Given the description of an element on the screen output the (x, y) to click on. 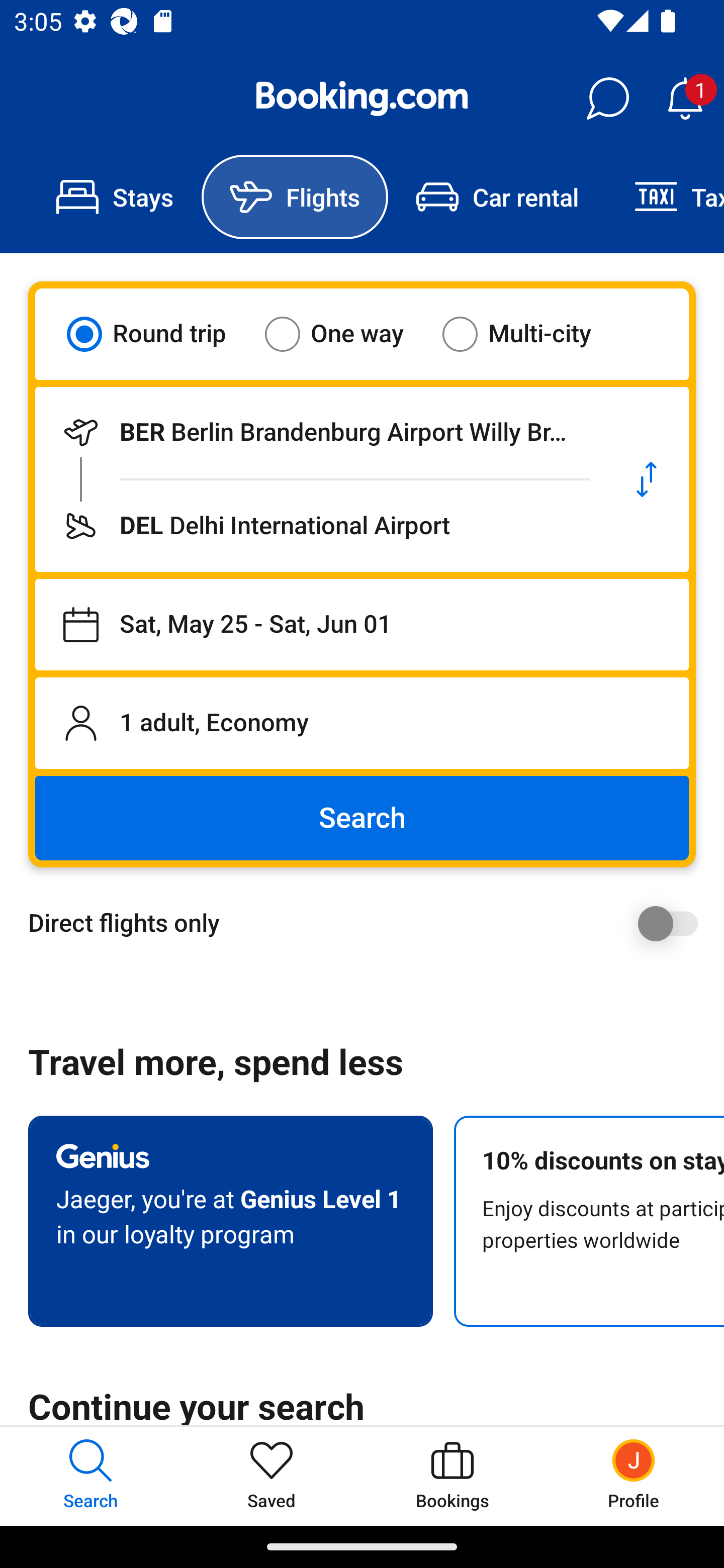
Messages (607, 98)
Notifications (685, 98)
Stays (114, 197)
Flights (294, 197)
Car rental (497, 197)
Taxi (665, 197)
One way (346, 333)
Multi-city (528, 333)
Swap departure location and destination (646, 479)
Flying to DEL Delhi International Airport (319, 525)
Departing on Sat, May 25, returning on Sat, Jun 01 (361, 624)
1 adult, Economy (361, 722)
Search (361, 818)
Direct flights only (369, 923)
Saved (271, 1475)
Bookings (452, 1475)
Profile (633, 1475)
